Given the description of an element on the screen output the (x, y) to click on. 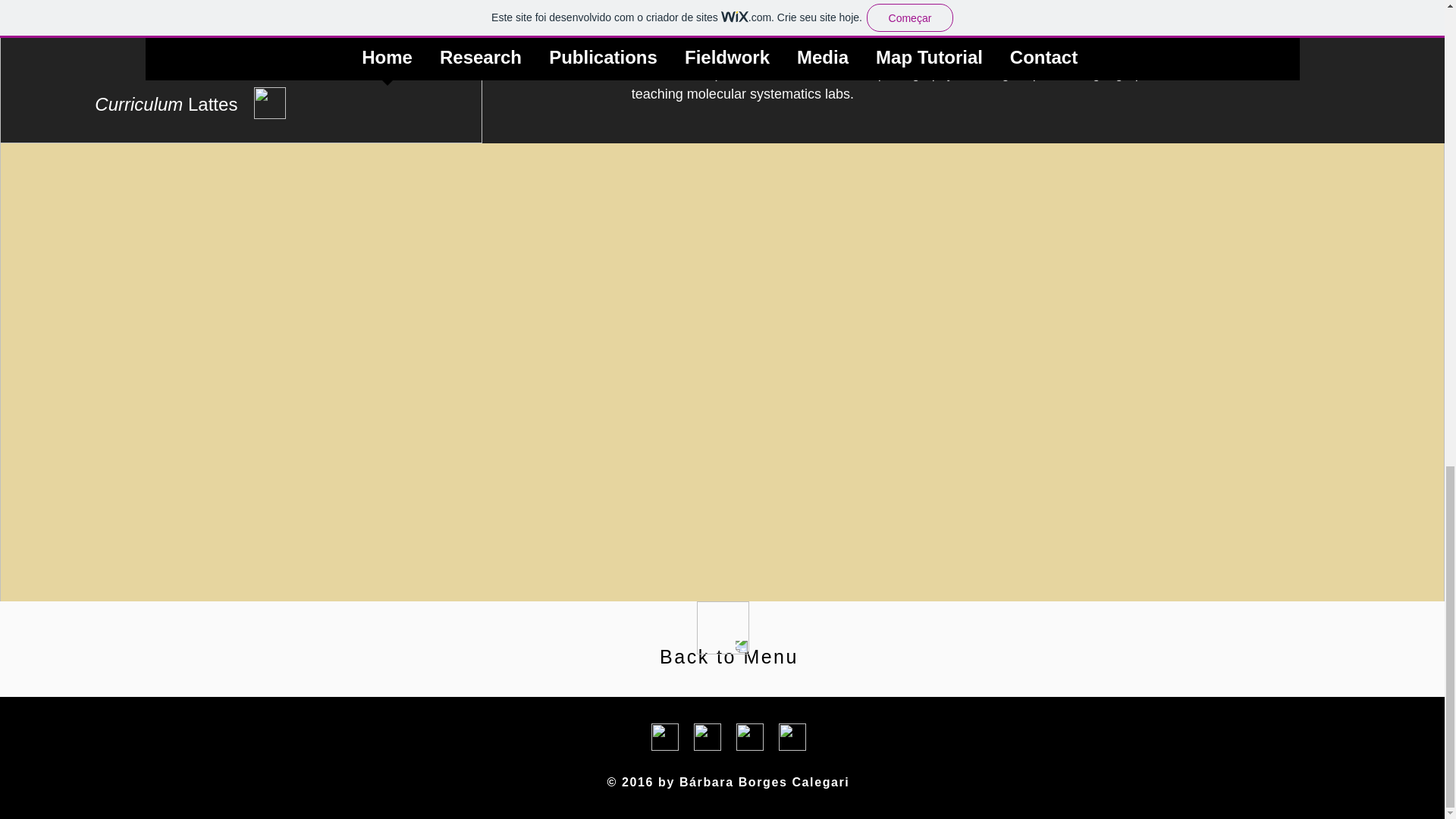
Back to Menu (728, 656)
